Given the description of an element on the screen output the (x, y) to click on. 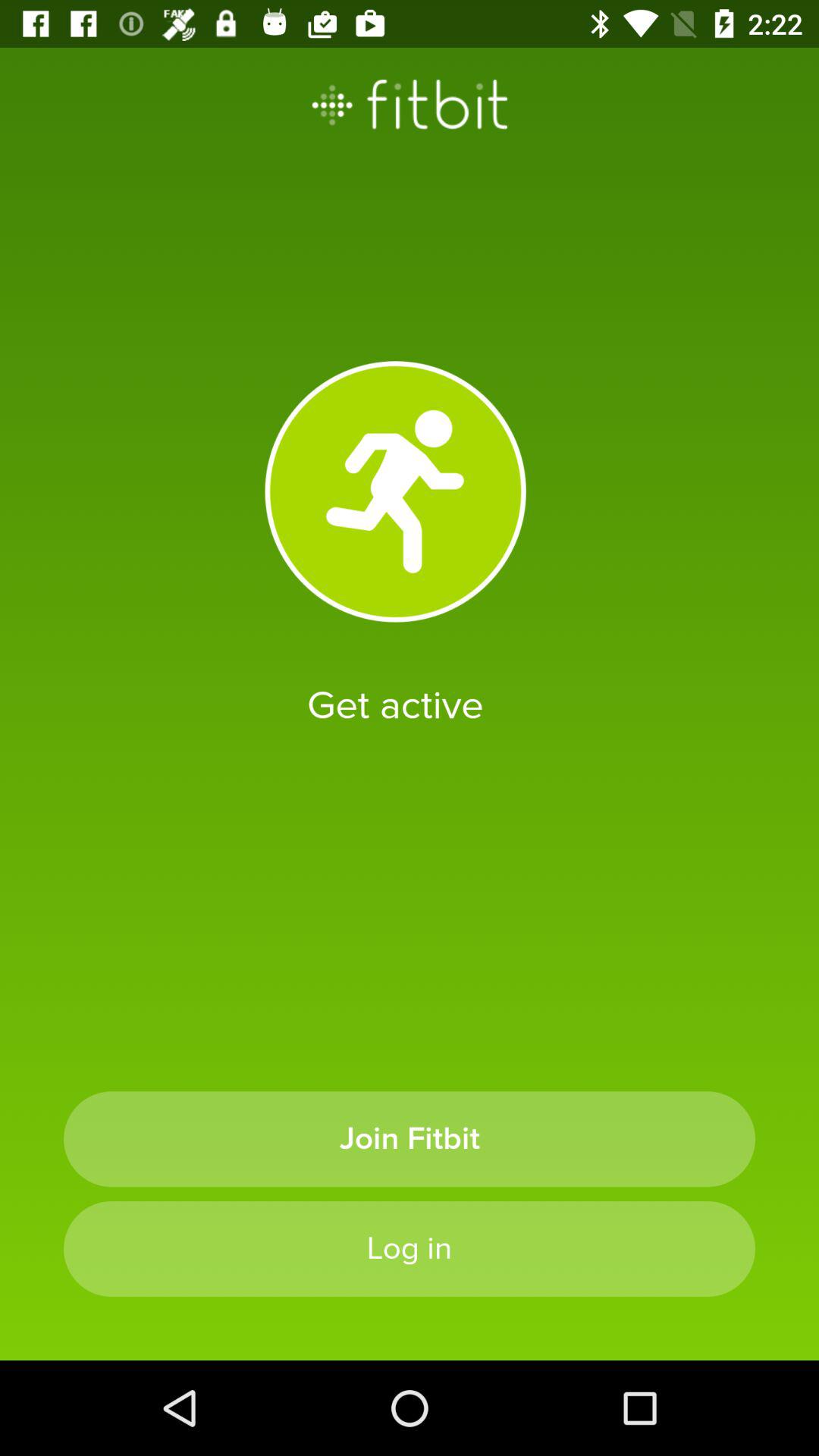
select the icon below join fitbit icon (409, 1248)
